Given the description of an element on the screen output the (x, y) to click on. 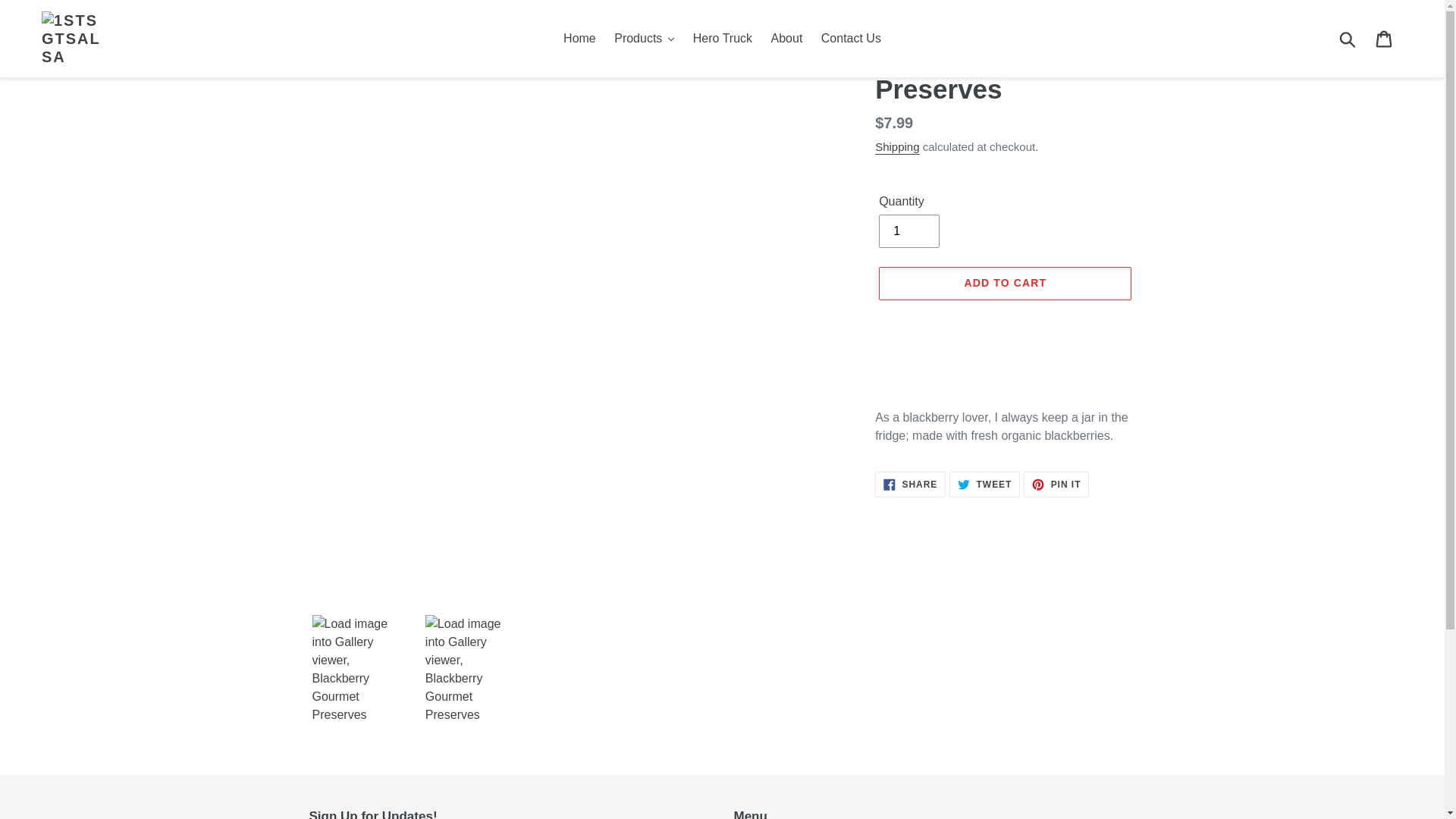
Hero Truck Element type: text (722, 38)
TWEET
TWEET ON TWITTER Element type: text (984, 484)
Contact Us Element type: text (850, 38)
Shipping Element type: text (897, 147)
Submit Element type: text (1348, 38)
Home Element type: text (579, 38)
Cart Element type: text (1384, 38)
ADD TO CART Element type: text (1004, 283)
About Element type: text (786, 38)
SHARE
SHARE ON FACEBOOK Element type: text (910, 484)
PIN IT
PIN ON PINTEREST Element type: text (1055, 484)
